Given the description of an element on the screen output the (x, y) to click on. 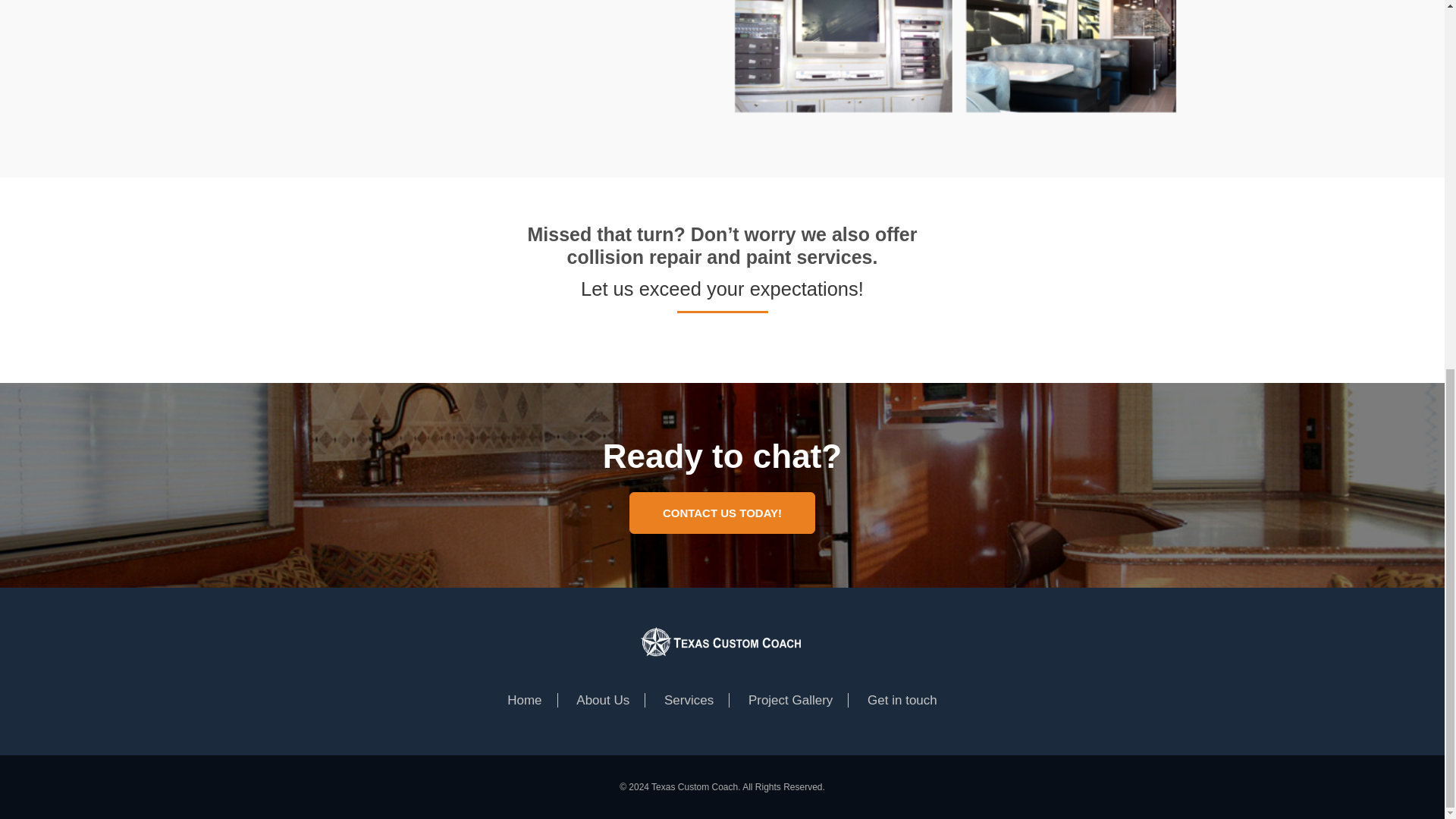
Home (523, 699)
CONTACT US TODAY! (721, 512)
Project Gallery (790, 699)
Get in touch (902, 699)
Services (688, 699)
About Us (602, 699)
